Given the description of an element on the screen output the (x, y) to click on. 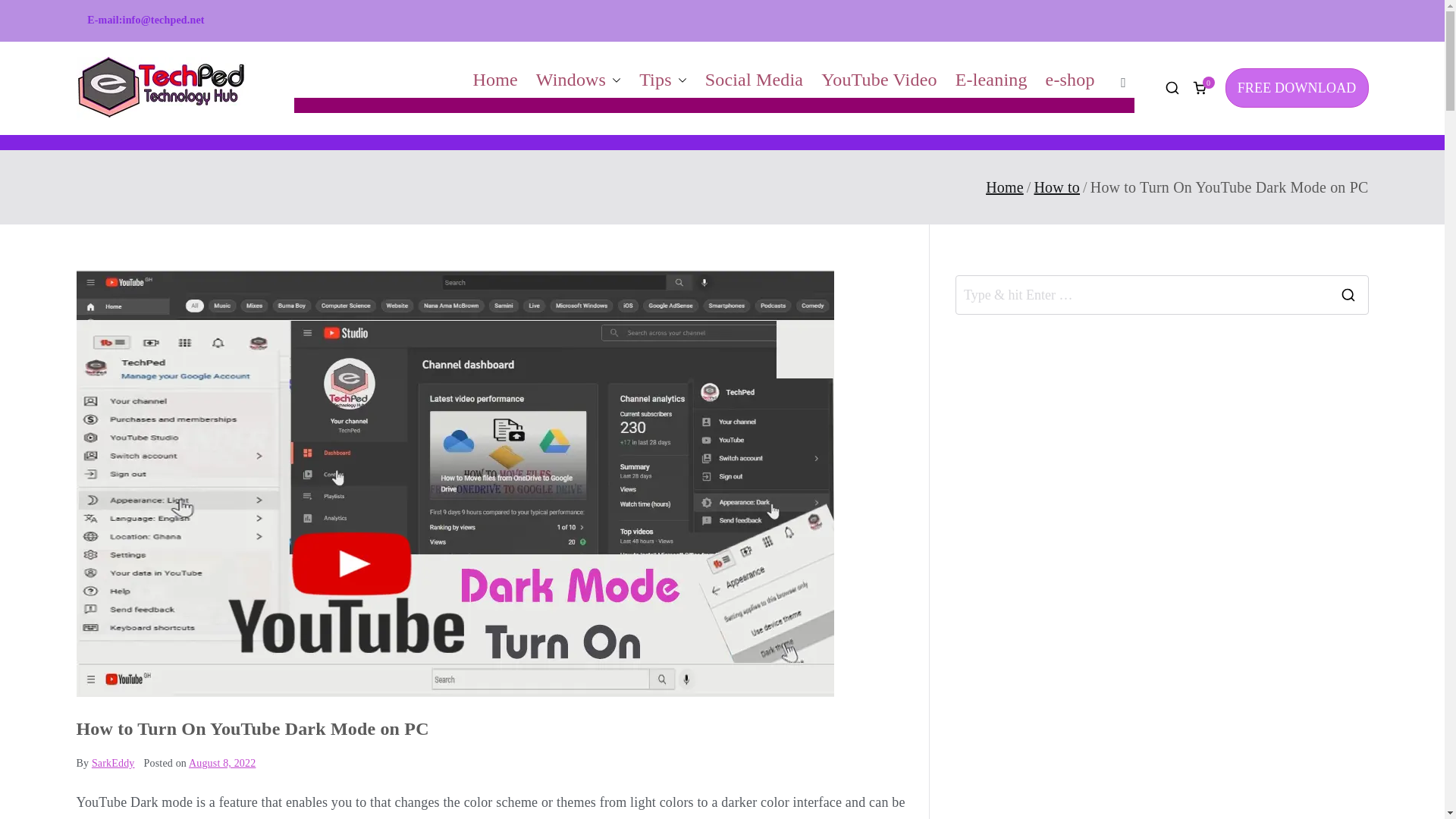
YouTube Video (879, 80)
Advertisement (1161, 722)
View your shopping cart (1199, 87)
E-leaning (991, 80)
Search for: (1141, 294)
FREE DOWNLOAD (1296, 87)
Windows (578, 80)
TechPed (288, 98)
e-shop (1069, 80)
Home (493, 80)
Search (26, 15)
Social Media (753, 80)
0 (1199, 87)
Tips (663, 80)
